Given the description of an element on the screen output the (x, y) to click on. 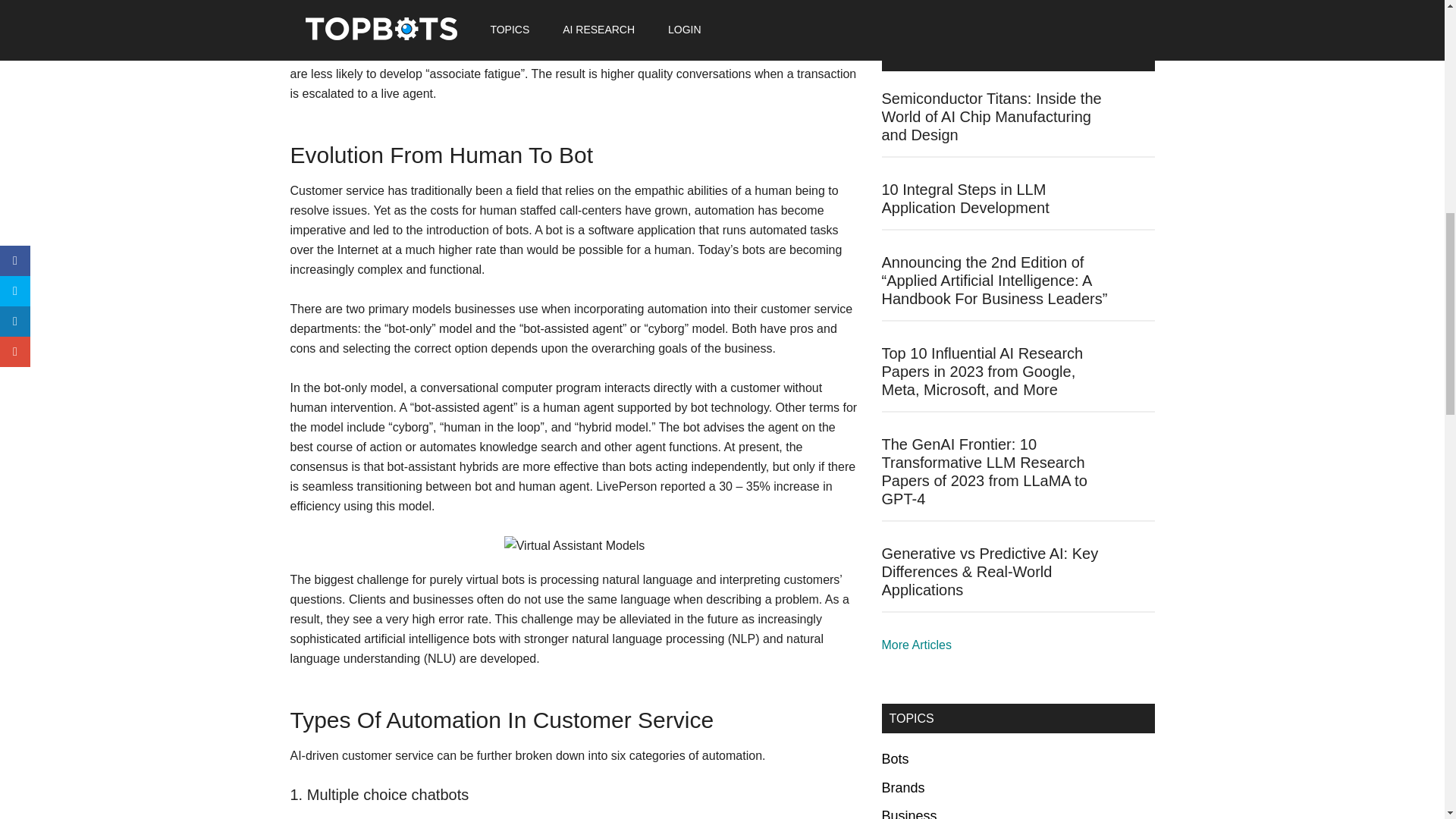
Brands (902, 787)
More Articles (915, 644)
Top (915, 644)
Business (908, 813)
10 Integral Steps in LLM Application Development (964, 198)
Bots (894, 758)
